Given the description of an element on the screen output the (x, y) to click on. 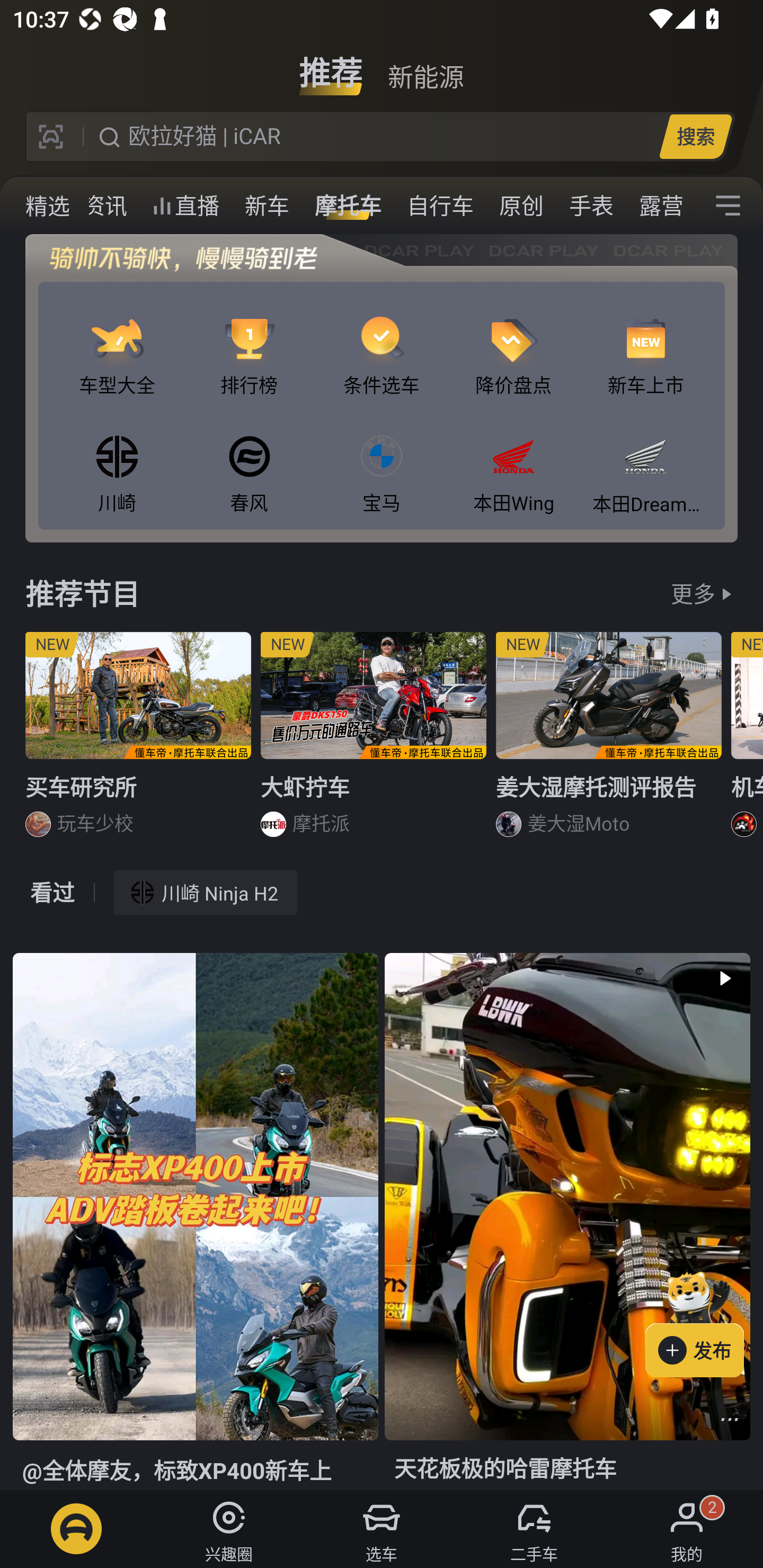
推荐 (330, 65)
新能源 (425, 65)
搜索 (695, 136)
精选 (35, 205)
资讯 (104, 205)
直播 (185, 205)
新车 (266, 205)
摩托车 (348, 205)
自行车 (440, 205)
原创 (521, 205)
手表 (591, 205)
露营 (660, 205)
 (727, 205)
车型大全 (117, 340)
排行榜 (249, 340)
条件选车 (381, 340)
降价盘点 (513, 340)
新车上市 (645, 340)
川崎 (117, 458)
春风 (249, 458)
宝马 (381, 458)
本田Wing (513, 458)
本田DreamWing (645, 458)
更多 (692, 593)
NEW 买车研究所 玩车少校 (138, 741)
NEW 大虾拧车 摩托派 (373, 741)
NEW 姜大湿摩托测评报告 姜大湿Moto (608, 741)
川崎 Ninja H2 (205, 892)
@全体摩友，标致XP400新车上市，试驾体验抢先看！ (195, 1221)
  天花板极的哈雷摩托车 (567, 1221)
发布 (704, 1320)
 (729, 1419)
 兴趣圈 (228, 1528)
 选车 (381, 1528)
 二手车 (533, 1528)
 我的 (686, 1528)
